Given the description of an element on the screen output the (x, y) to click on. 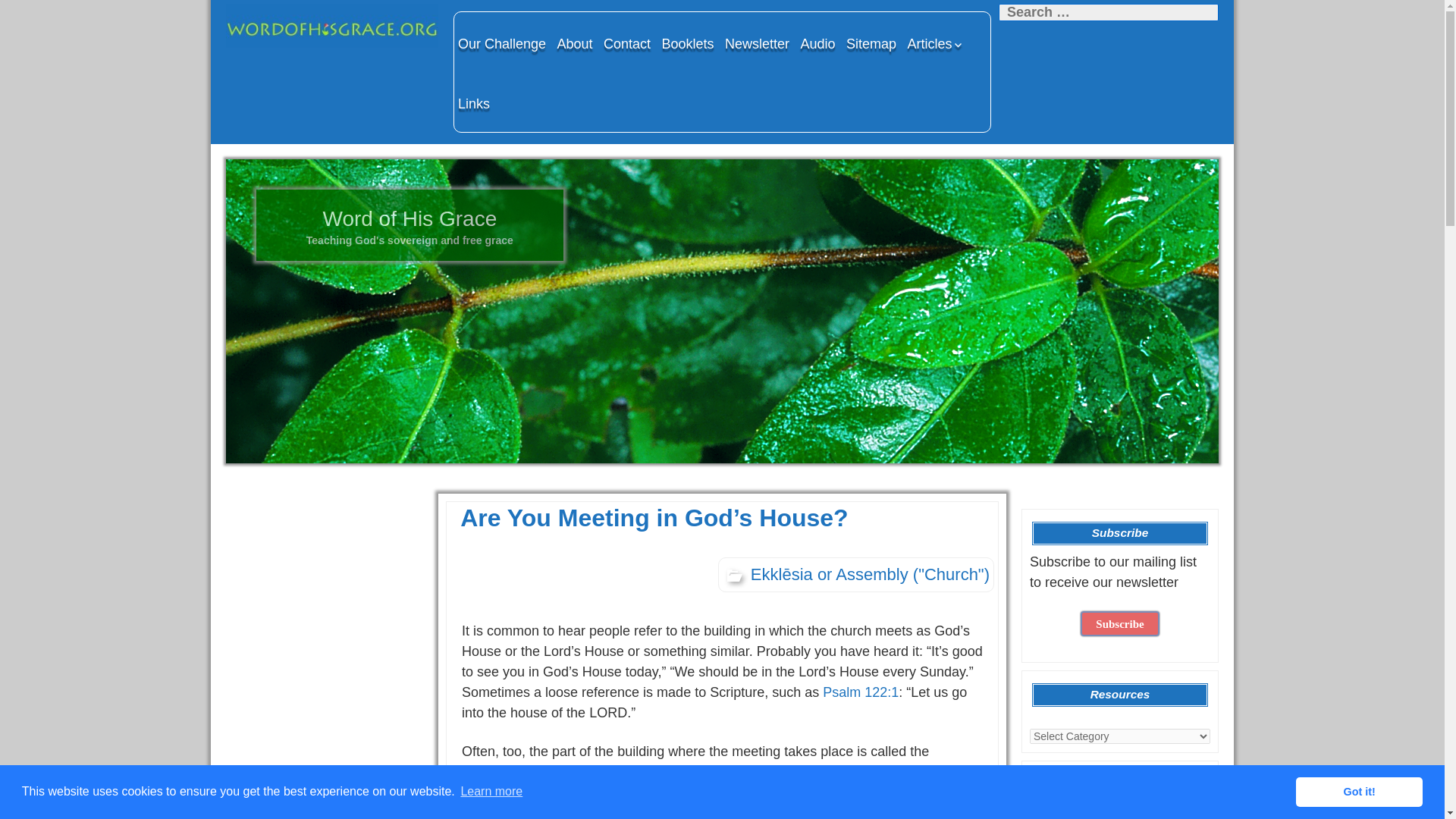
Our Challenge (502, 43)
Articles (936, 43)
Sitemap (871, 43)
Contact (626, 43)
Subscribe to our newsletter (1119, 623)
Newsletter (756, 43)
Got it! (1358, 791)
Word of His Grace (331, 25)
Booklets (687, 43)
Audio (818, 43)
Learn more (491, 791)
About (574, 43)
